Given the description of an element on the screen output the (x, y) to click on. 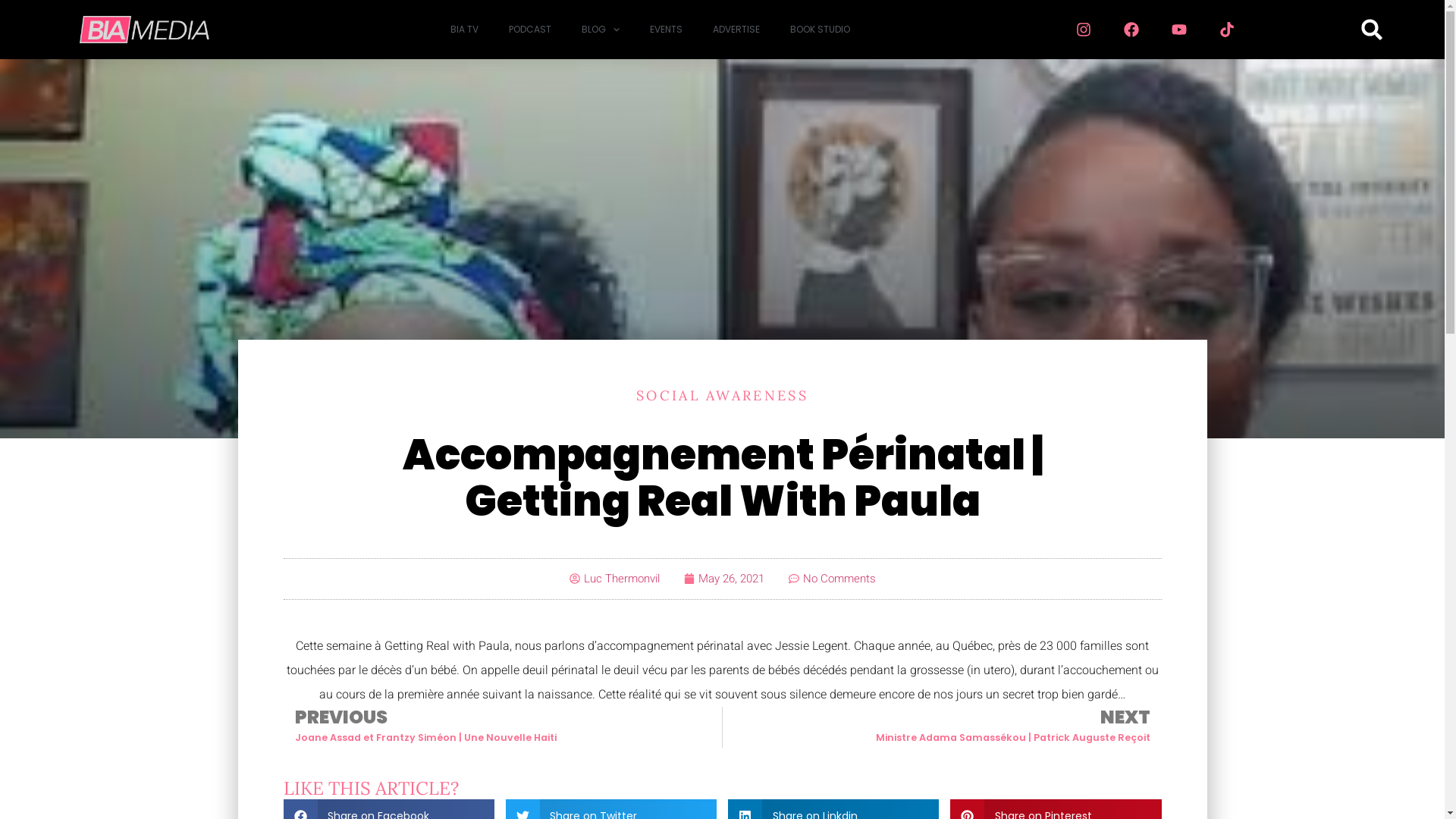
ADVERTISE Element type: text (736, 29)
BLOG Element type: text (600, 29)
No Comments Element type: text (831, 578)
PODCAST Element type: text (529, 29)
May 26, 2021 Element type: text (724, 578)
EVENTS Element type: text (665, 29)
BIA TV Element type: text (464, 29)
Luc Thermonvil Element type: text (613, 578)
BOOK STUDIO Element type: text (820, 29)
SOCIAL AWARENESS Element type: text (722, 395)
